Given the description of an element on the screen output the (x, y) to click on. 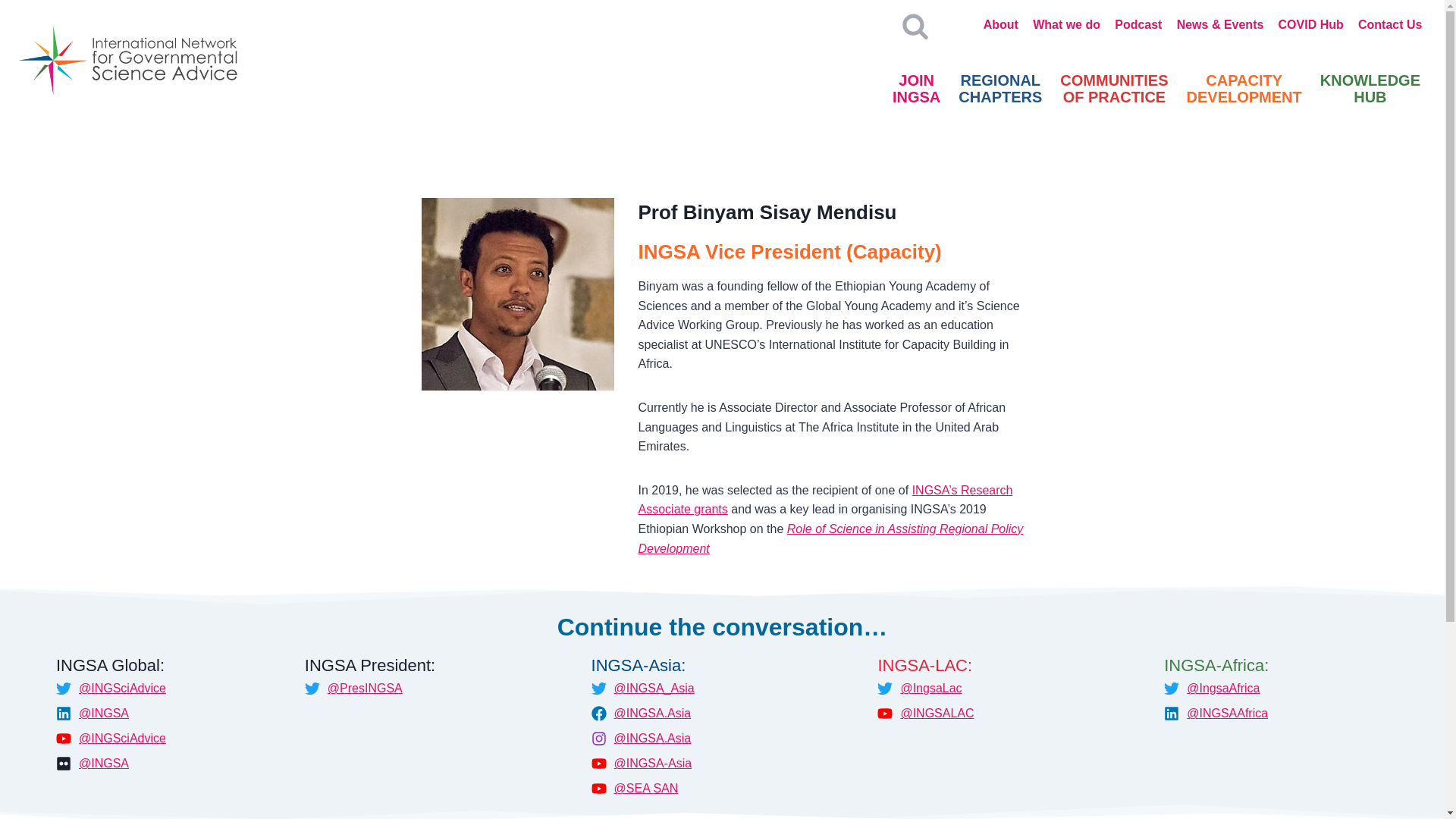
Contact Us (1244, 88)
What we do (1390, 24)
Role of Science in Assisting Regional Policy Development (1067, 24)
Podcast (1113, 88)
About (831, 538)
COVID Hub (916, 88)
